Given the description of an element on the screen output the (x, y) to click on. 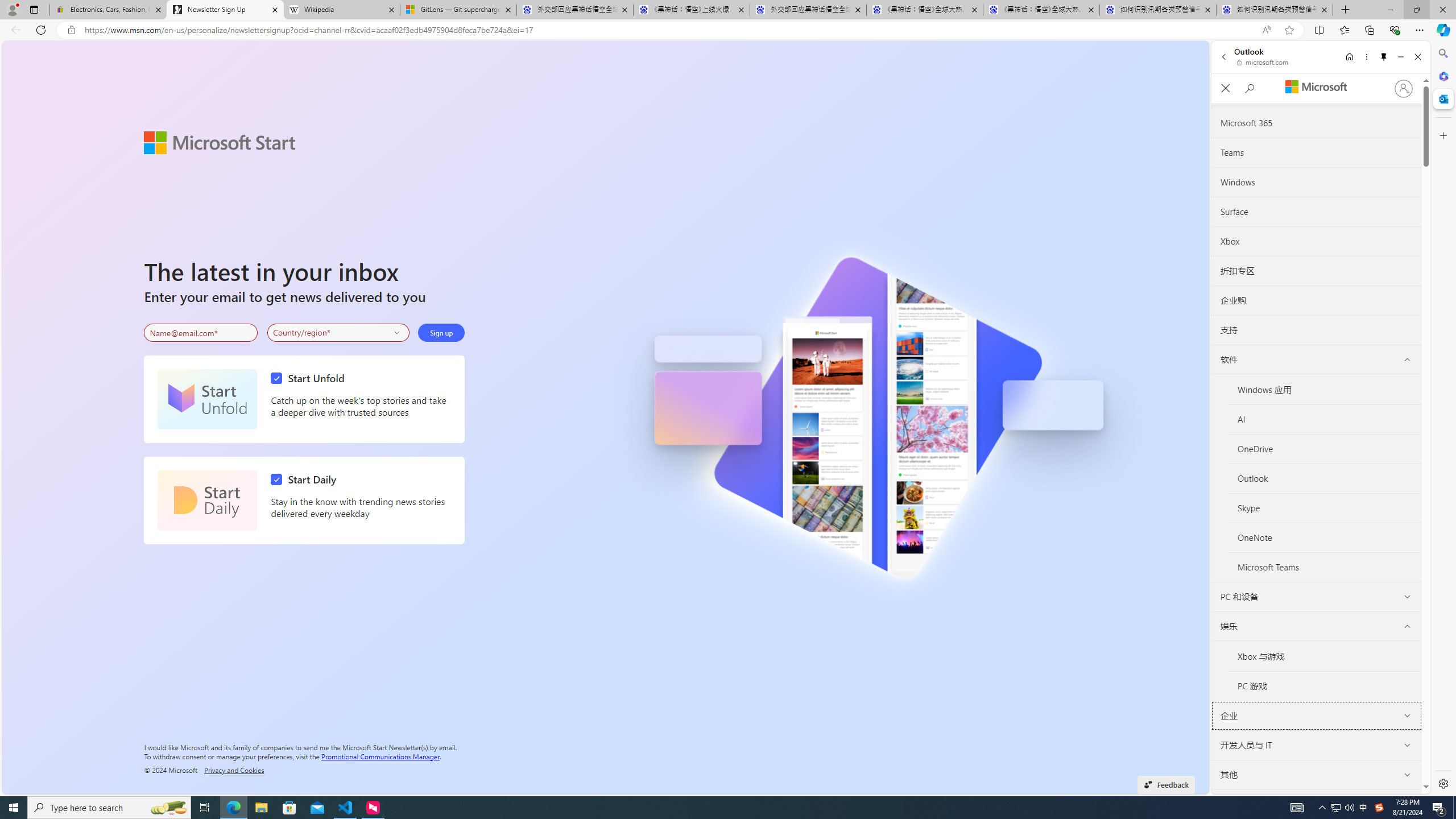
Close All Microsoft list (1225, 88)
Teams (1316, 152)
Newsletter Sign Up (224, 9)
OneNote (1324, 538)
Select your country (338, 332)
Microsoft (1315, 87)
